Given the description of an element on the screen output the (x, y) to click on. 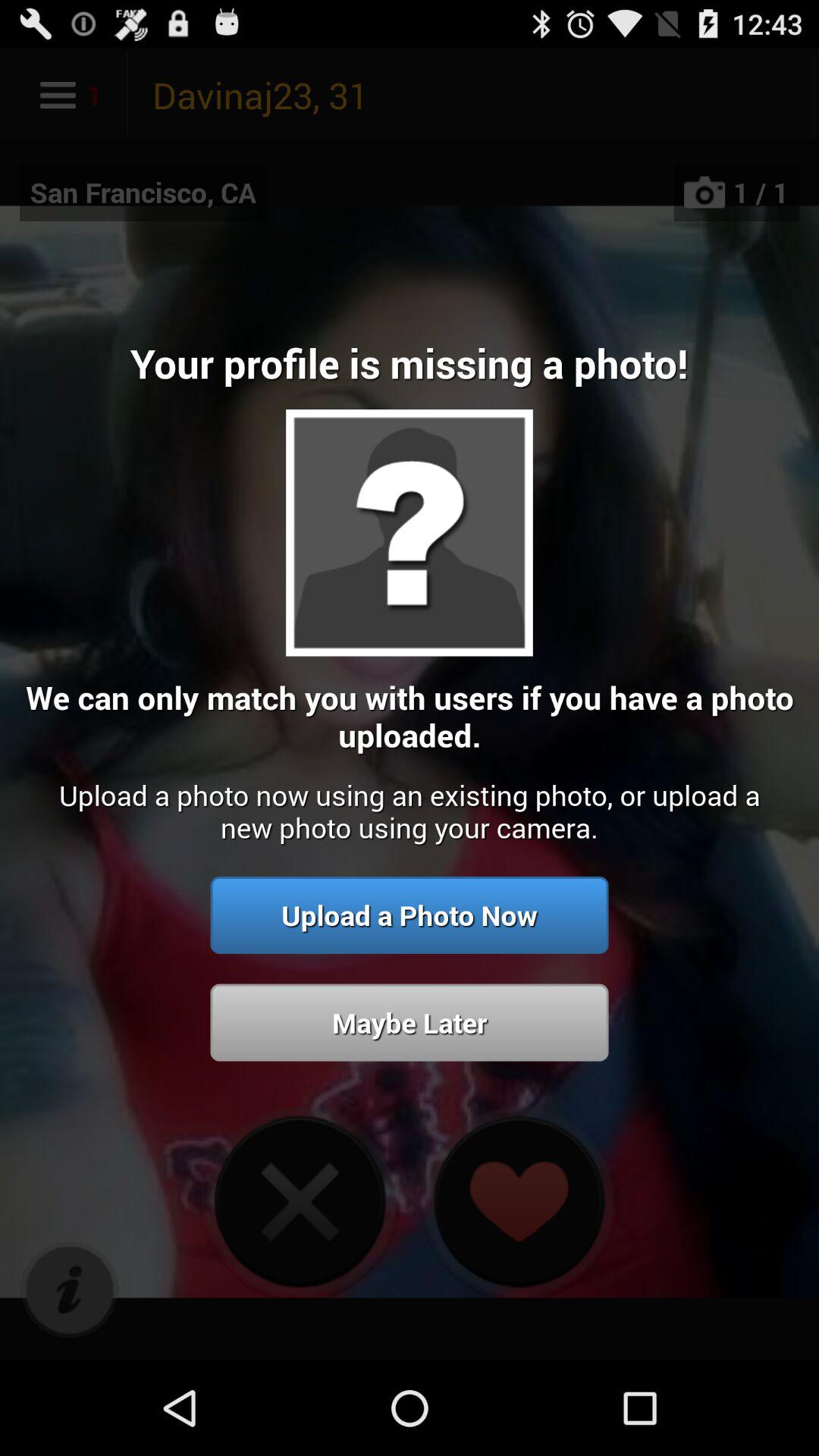
choose the icon below the upload a photo (409, 1022)
